Given the description of an element on the screen output the (x, y) to click on. 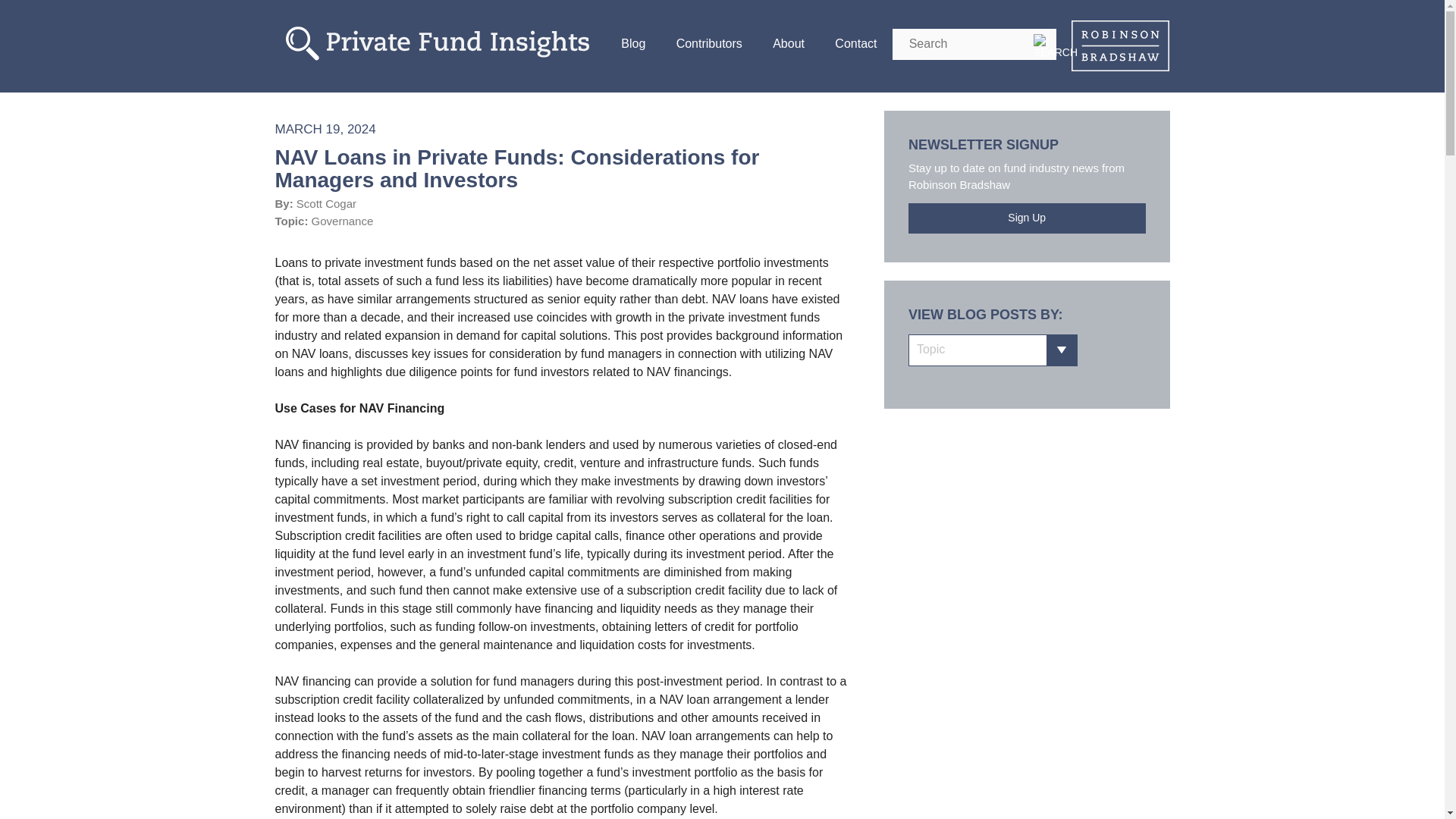
Governance (342, 220)
Contributors (709, 44)
About (788, 44)
Scott Cogar (326, 203)
Contact (855, 44)
Blog (633, 44)
Sign Up (1026, 218)
